Given the description of an element on the screen output the (x, y) to click on. 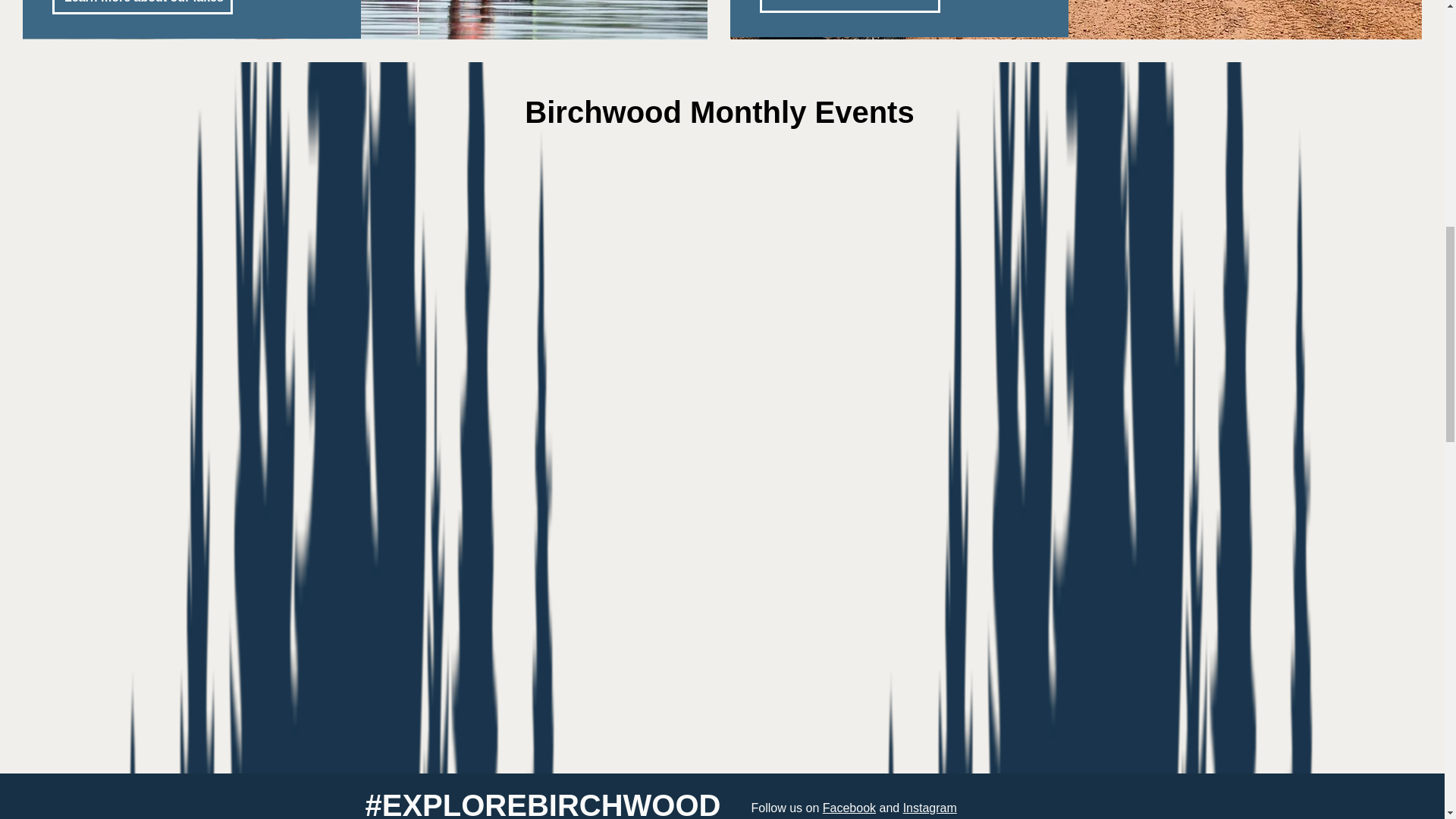
Learn more about our lakes (142, 7)
Learn more about our trails (850, 6)
Instagram (929, 807)
Facebook (849, 807)
